Given the description of an element on the screen output the (x, y) to click on. 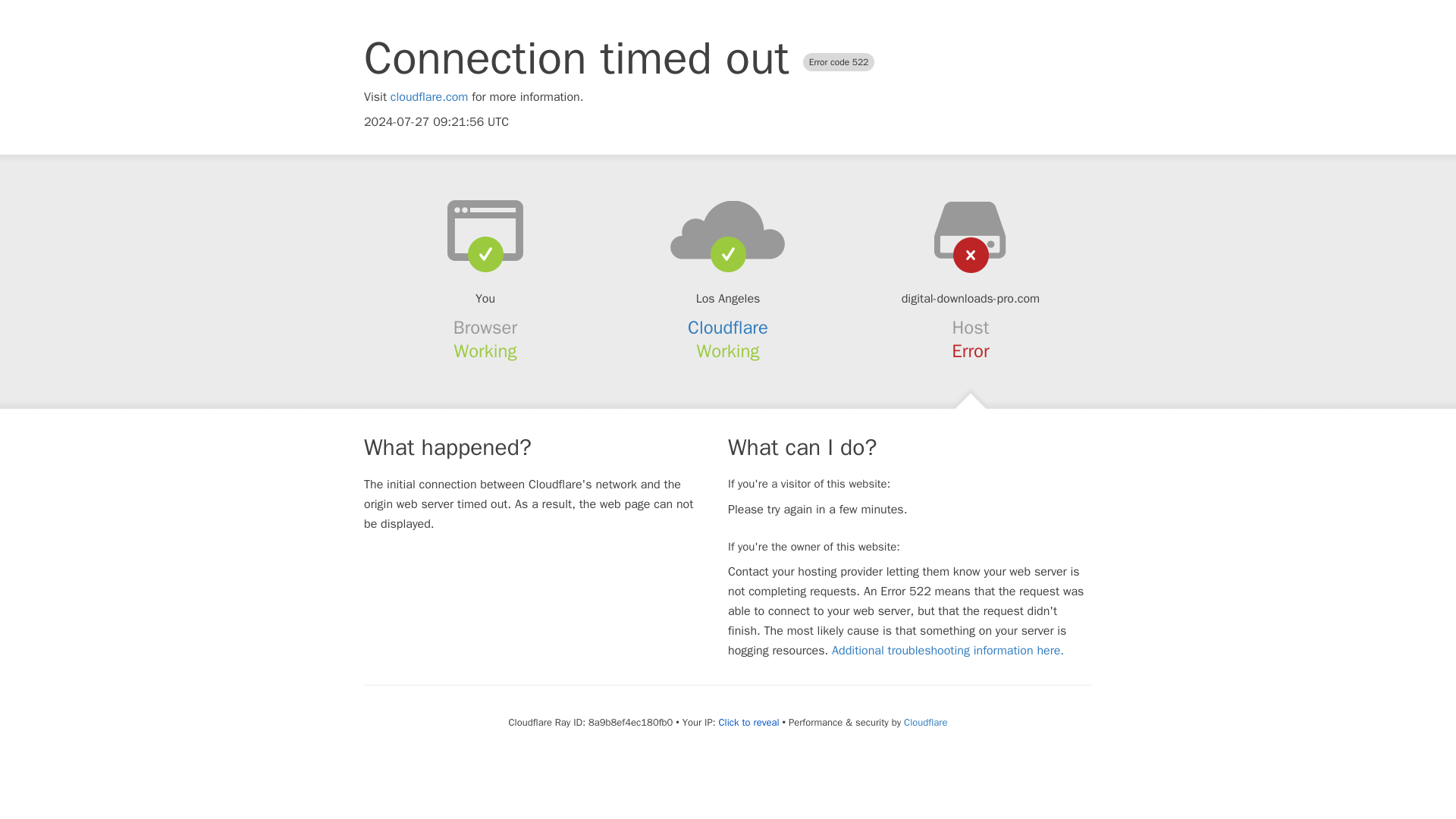
Cloudflare (925, 721)
Click to reveal (748, 722)
Additional troubleshooting information here. (947, 650)
Cloudflare (727, 327)
cloudflare.com (429, 96)
